Given the description of an element on the screen output the (x, y) to click on. 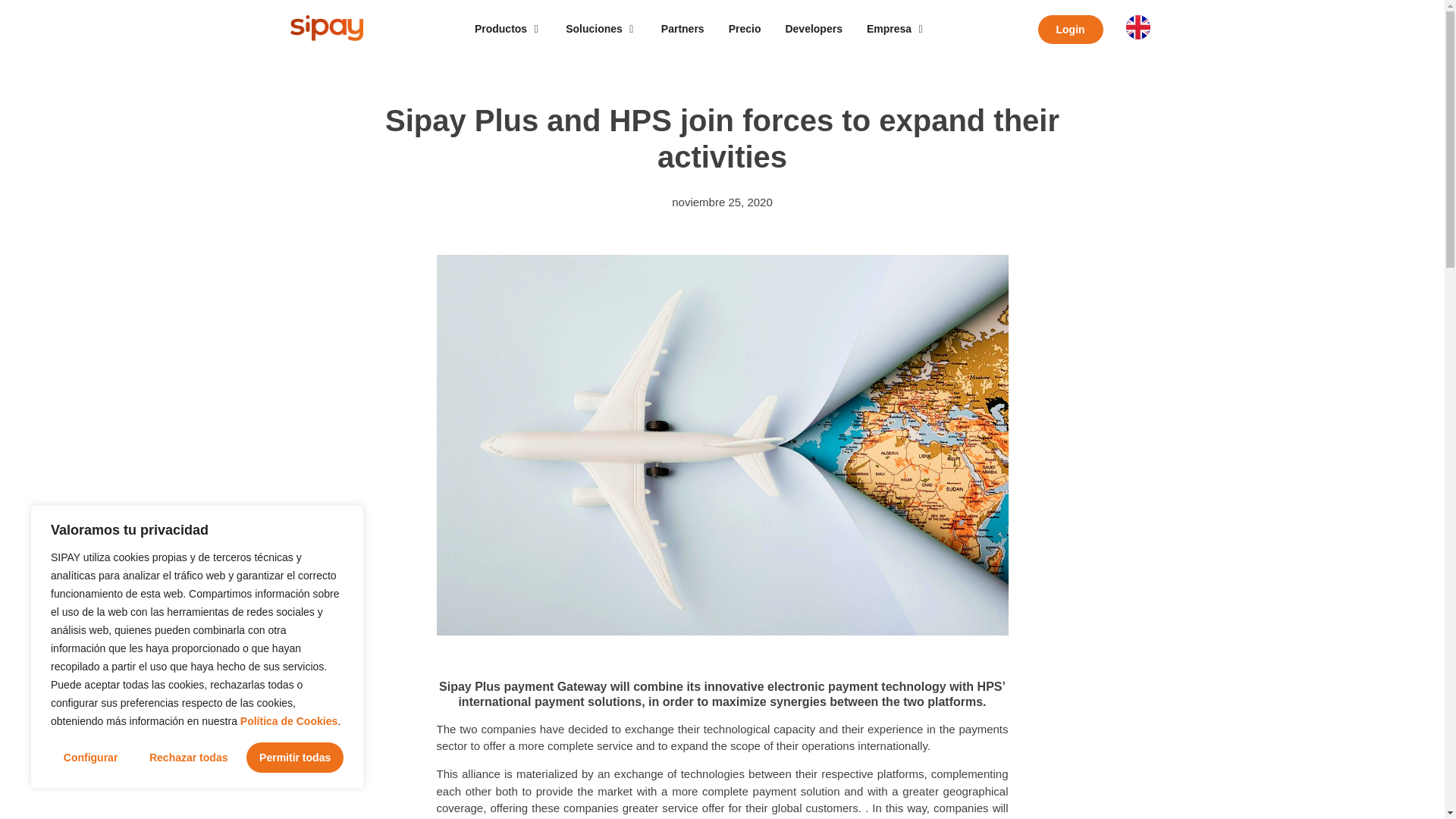
Developers (812, 28)
Rechazar todas (188, 757)
Precio (745, 28)
Permitir todas (294, 757)
Configurar (90, 757)
Partners (682, 28)
